Given the description of an element on the screen output the (x, y) to click on. 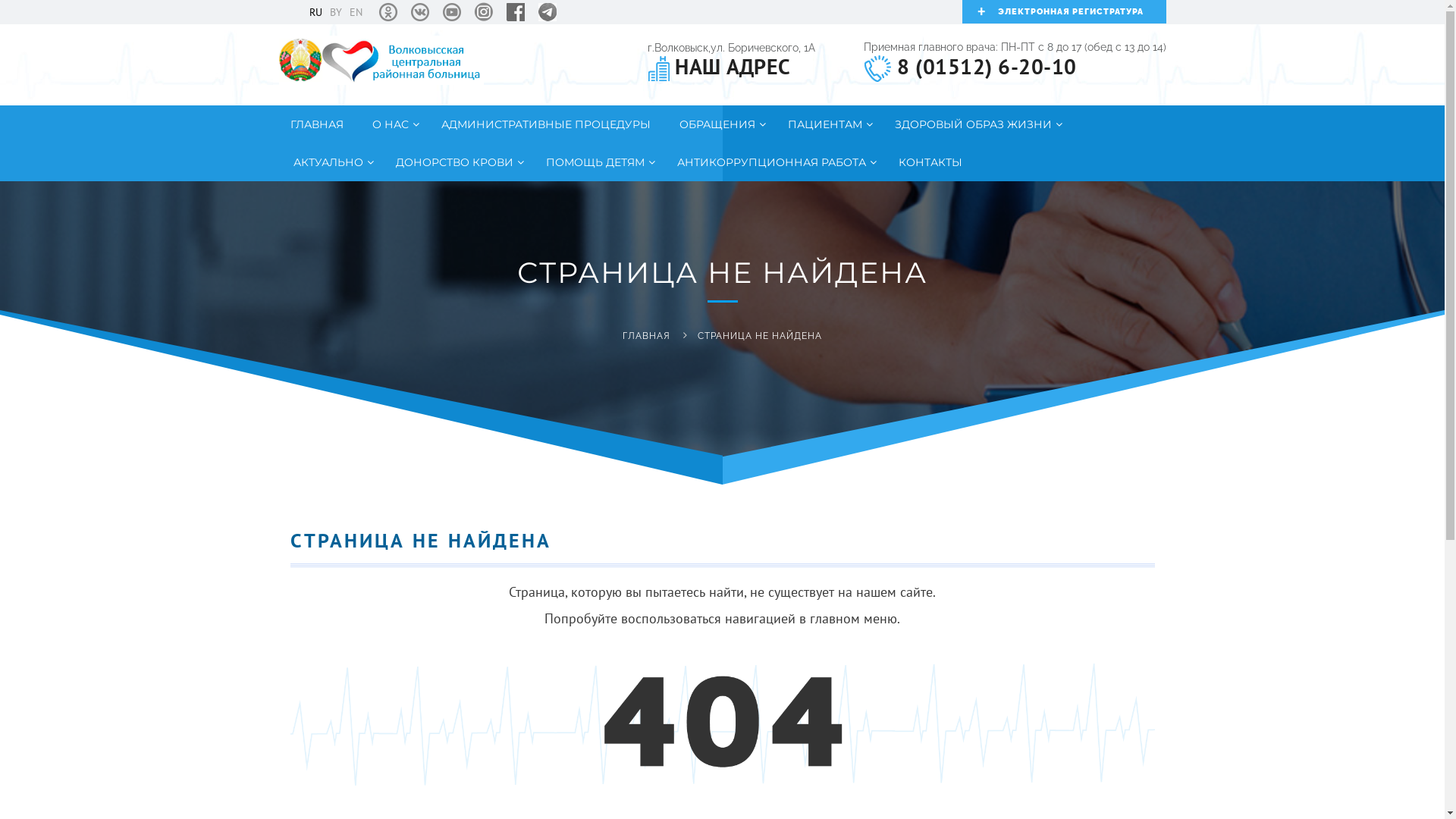
EN Element type: text (354, 11)
BY Element type: text (335, 11)
